Given the description of an element on the screen output the (x, y) to click on. 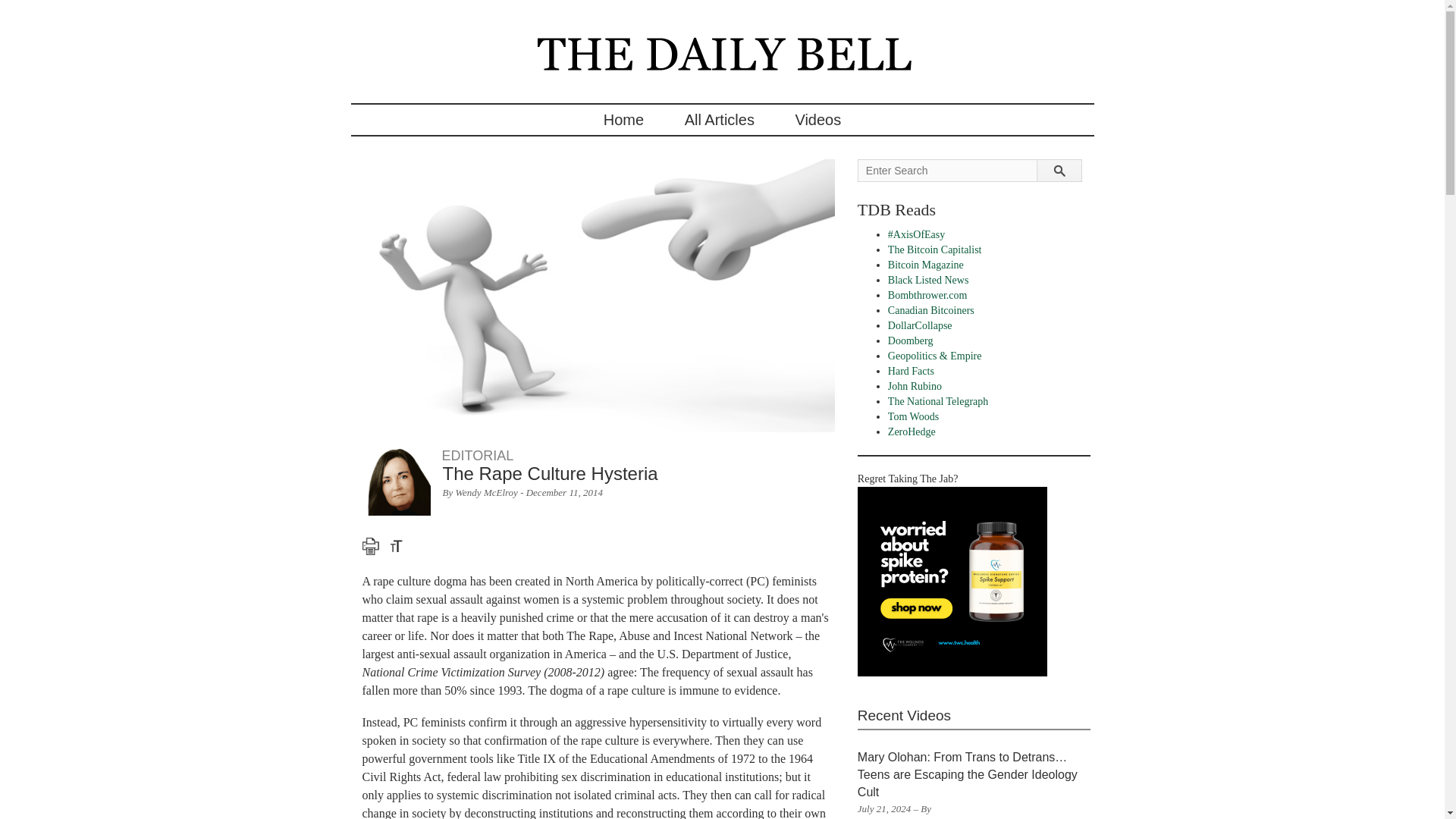
The National Telegraph (938, 401)
ZeroHedge (912, 431)
The Bitcoin Capitalist (934, 249)
DollarCollapse (920, 325)
All Articles (719, 119)
Tom Woods (913, 416)
Home (623, 119)
Bitcoin Magazine (925, 265)
Canadian Bitcoiners (931, 310)
Hard Facts (911, 370)
Bombthrower.com (928, 295)
Videos (818, 119)
Black Listed News (928, 279)
John Rubino (915, 386)
Doomberg (910, 340)
